Given the description of an element on the screen output the (x, y) to click on. 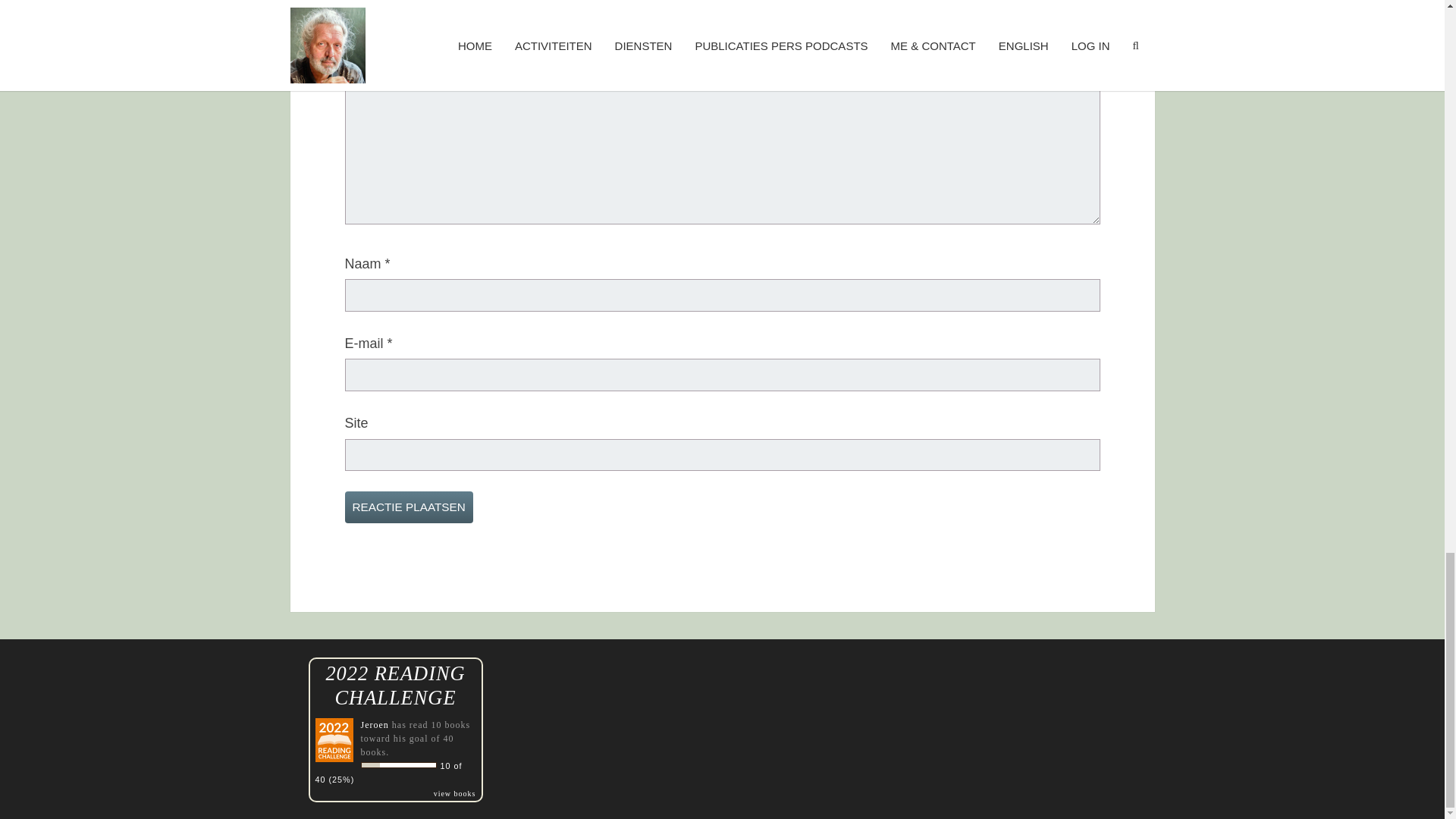
Reactie plaatsen (407, 507)
2022 READING CHALLENGE (394, 685)
Jeroen (374, 724)
Reactie plaatsen (407, 507)
view books (454, 792)
